Given the description of an element on the screen output the (x, y) to click on. 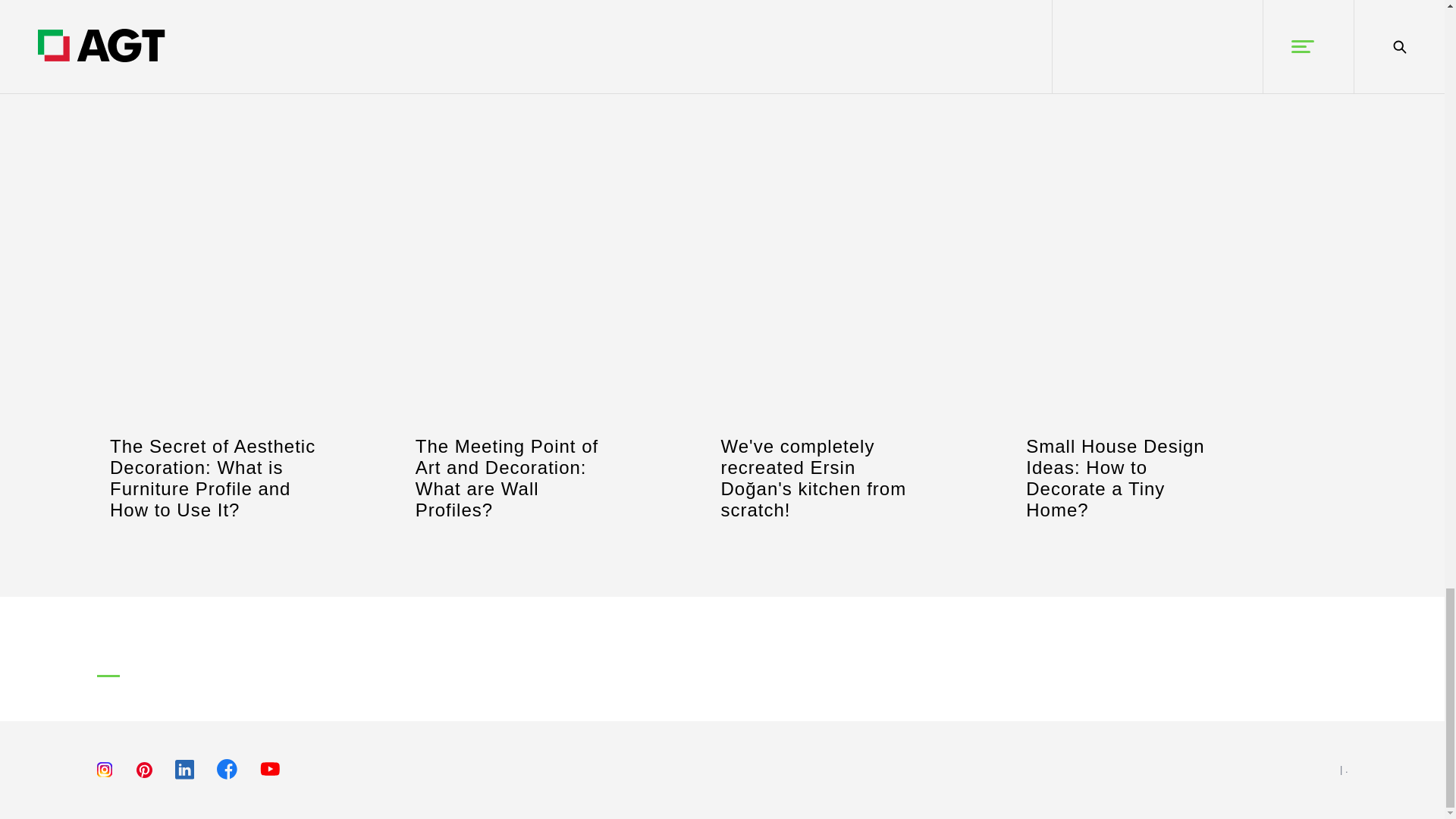
AGT instagram (105, 774)
AGT pinterest (143, 775)
AGT youtube (270, 777)
AGT facebook (226, 777)
AGT linkedin (183, 777)
